Given the description of an element on the screen output the (x, y) to click on. 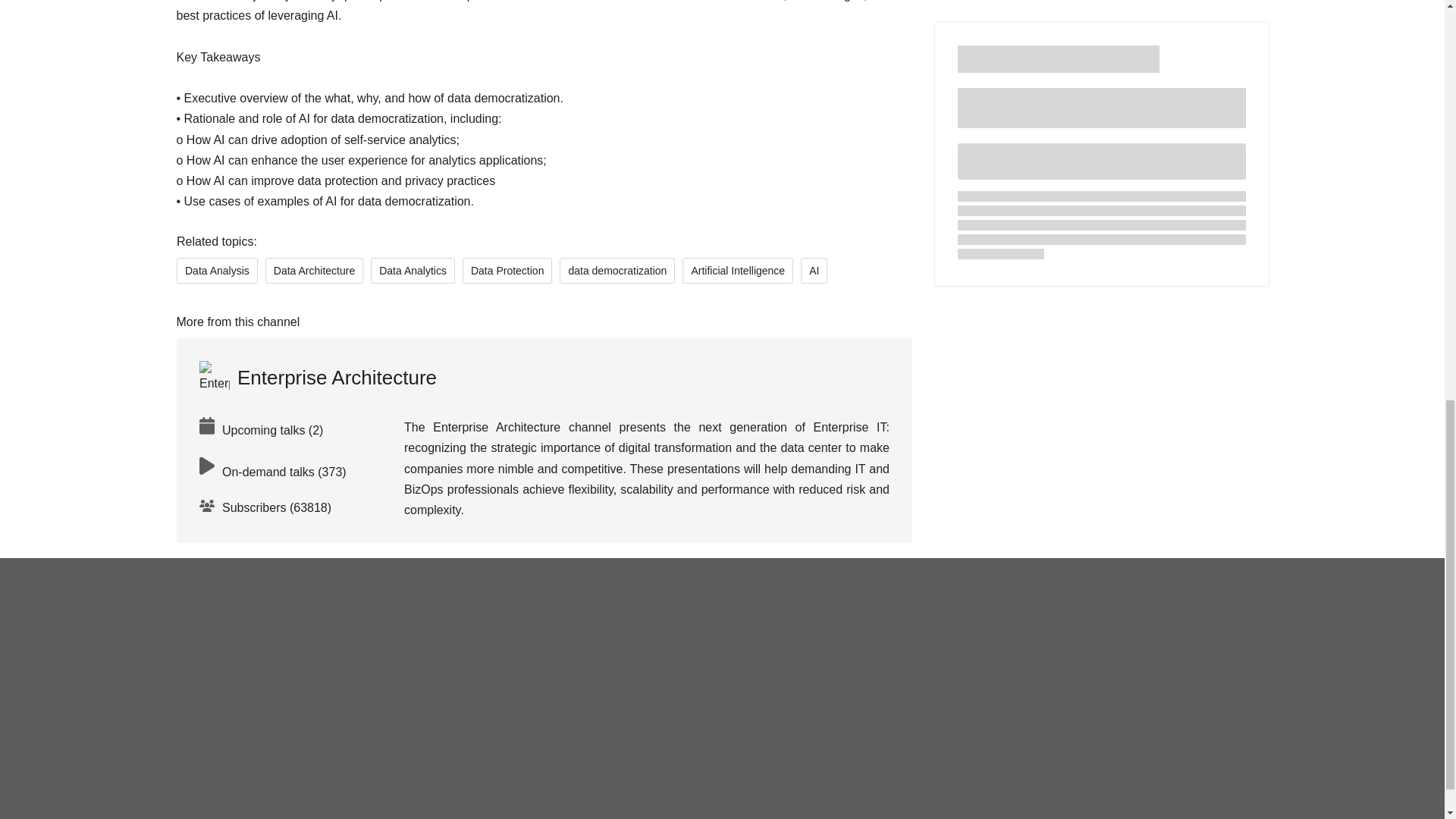
Artificial Intelligence (737, 270)
Data Analysis (216, 270)
AI (813, 270)
Data Architecture (313, 270)
Data Protection (506, 270)
Visit Enterprise Architecture's channel (316, 377)
data democratization (617, 270)
Enterprise Architecture (316, 377)
Data Analytics (412, 270)
